Given the description of an element on the screen output the (x, y) to click on. 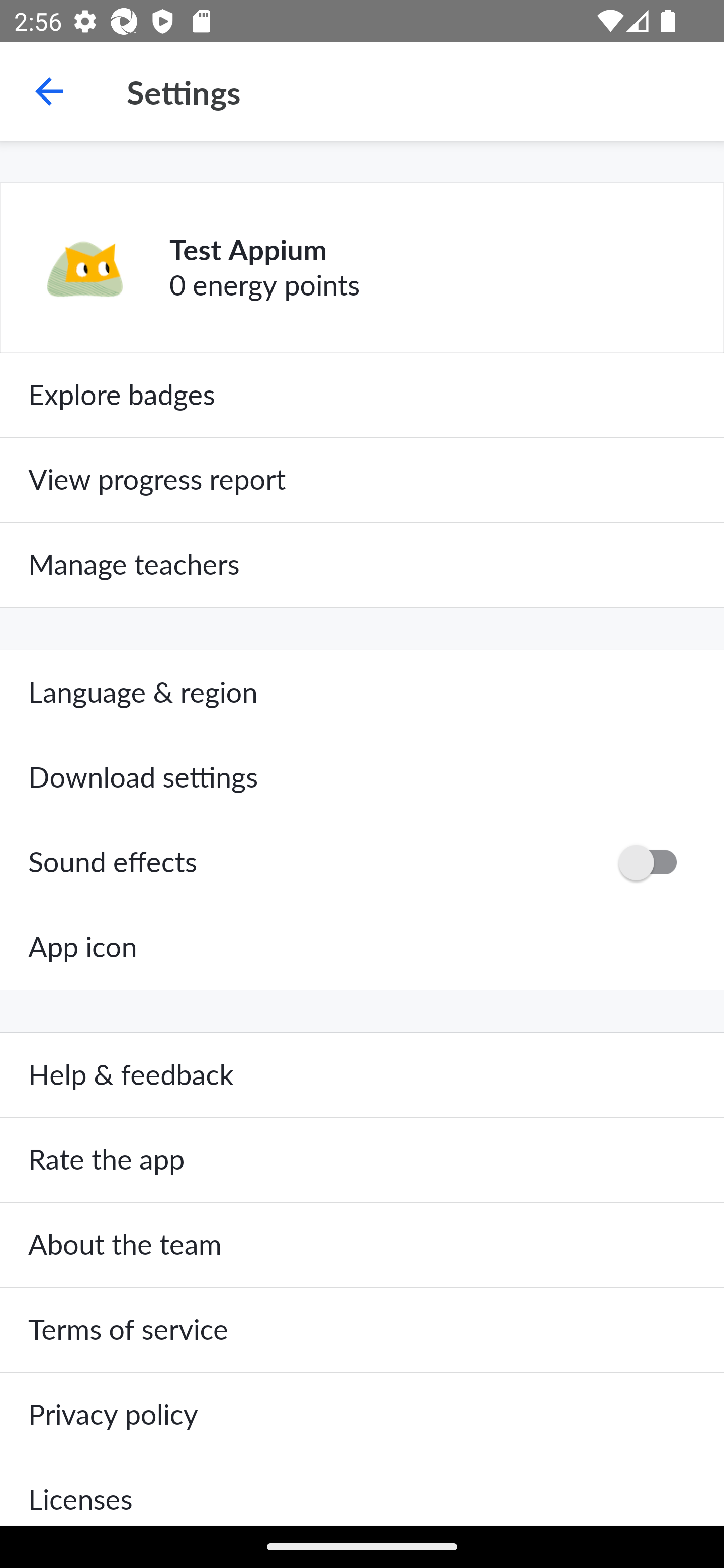
Navigate up (49, 91)
Explore badges (362, 394)
View progress report (362, 479)
Manage teachers (362, 565)
Language & region (362, 692)
Download settings (362, 777)
OFF (653, 861)
App icon (362, 946)
Help & feedback (362, 1075)
Rate the app (362, 1159)
About the team (362, 1244)
Terms of service (362, 1329)
Privacy policy (362, 1414)
Licenses (362, 1490)
